Given the description of an element on the screen output the (x, y) to click on. 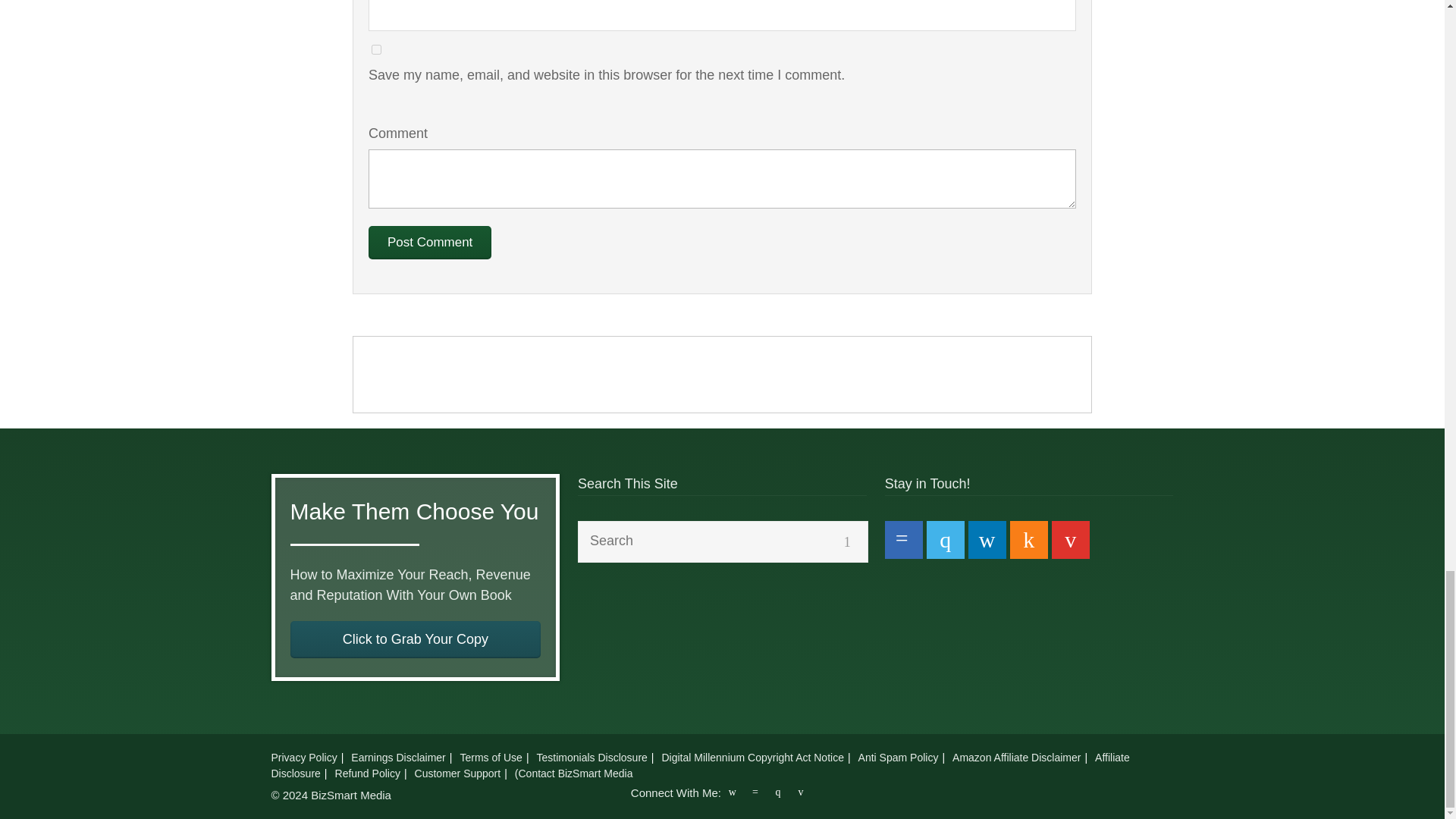
Post Comment (430, 242)
yes (376, 49)
